Given the description of an element on the screen output the (x, y) to click on. 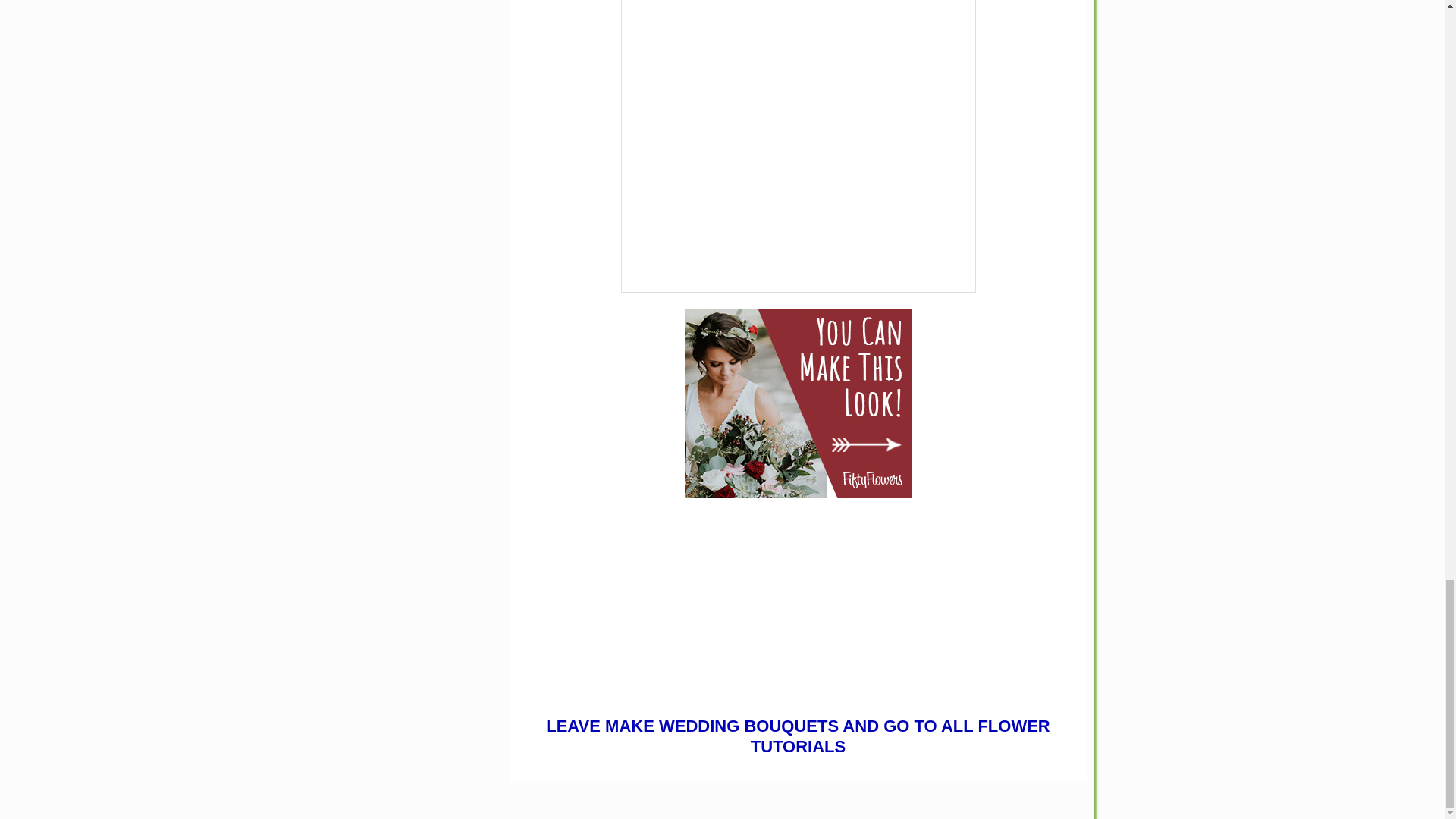
Go to How to Make Wedding Bouquets - Free Flower Tutorials (797, 594)
LEAVE MAKE WEDDING BOUQUETS AND GO TO ALL FLOWER TUTORIALS (797, 736)
Go to How to Make Wedding Bouquets - Free Flower Tutorials (797, 694)
